Given the description of an element on the screen output the (x, y) to click on. 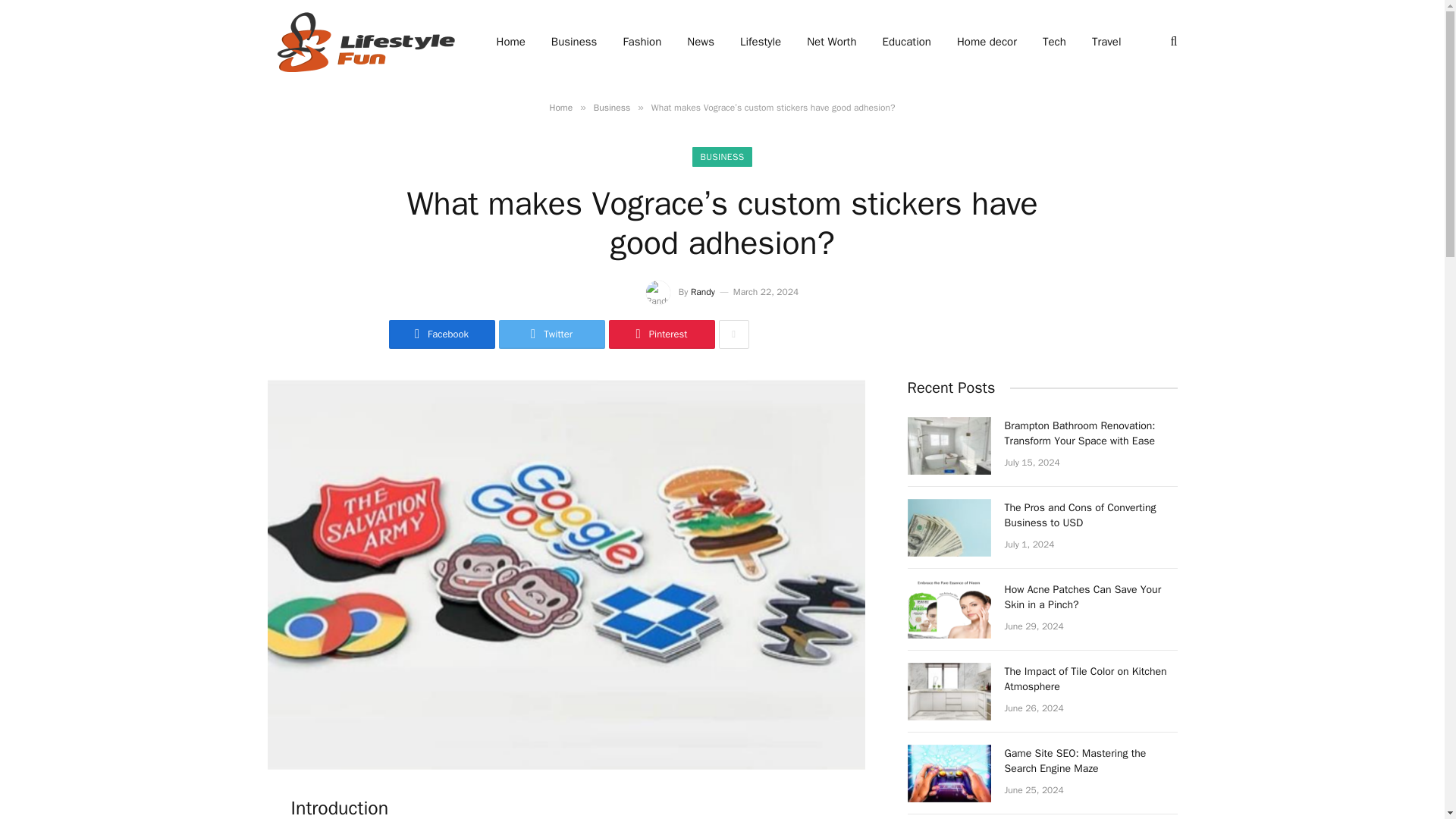
Lifestyle Fun (361, 41)
Pinterest (661, 334)
Home decor (986, 41)
Home (560, 107)
Business (612, 107)
Randy (702, 291)
Twitter (552, 334)
Share on Pinterest (661, 334)
Facebook (441, 334)
Net Worth (831, 41)
BUSINESS (722, 157)
Posts by Randy (702, 291)
Show More Social Sharing (734, 334)
Education (906, 41)
Share on Facebook (441, 334)
